Given the description of an element on the screen output the (x, y) to click on. 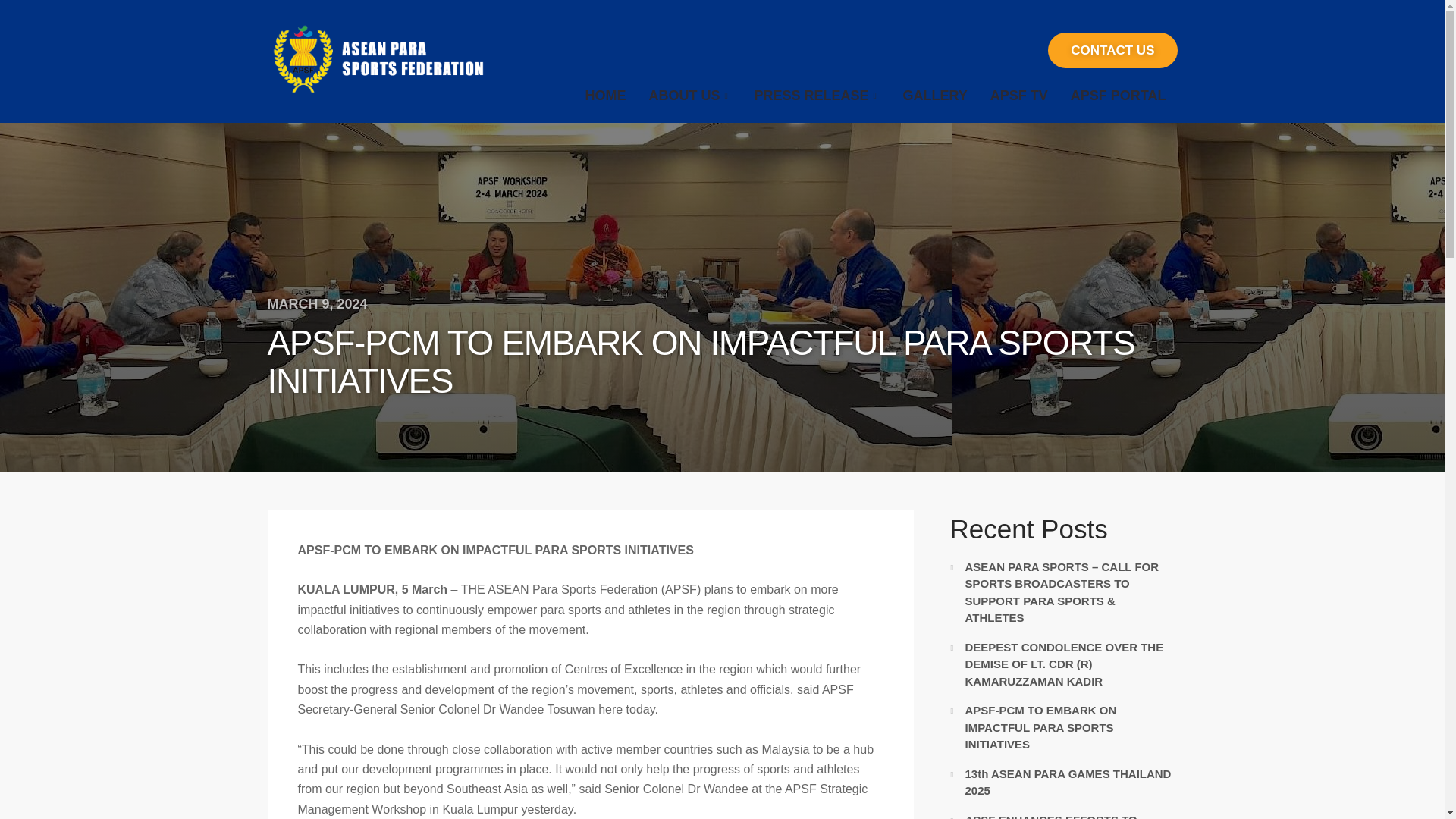
APSF-PCM TO EMBARK ON IMPACTFUL PARA SPORTS INITIATIVES (1039, 727)
APSF TV (1018, 94)
CONTACT US (1112, 49)
PRESS RELEASE (816, 94)
ABOUT US (689, 94)
APSF ENHANCES EFFORTS TO EMPOWER ATHLETES AND PARA ESPORTS (1055, 816)
HOME (605, 94)
GALLERY (934, 94)
APSF (374, 54)
APSF PORTAL (1118, 94)
